Given the description of an element on the screen output the (x, y) to click on. 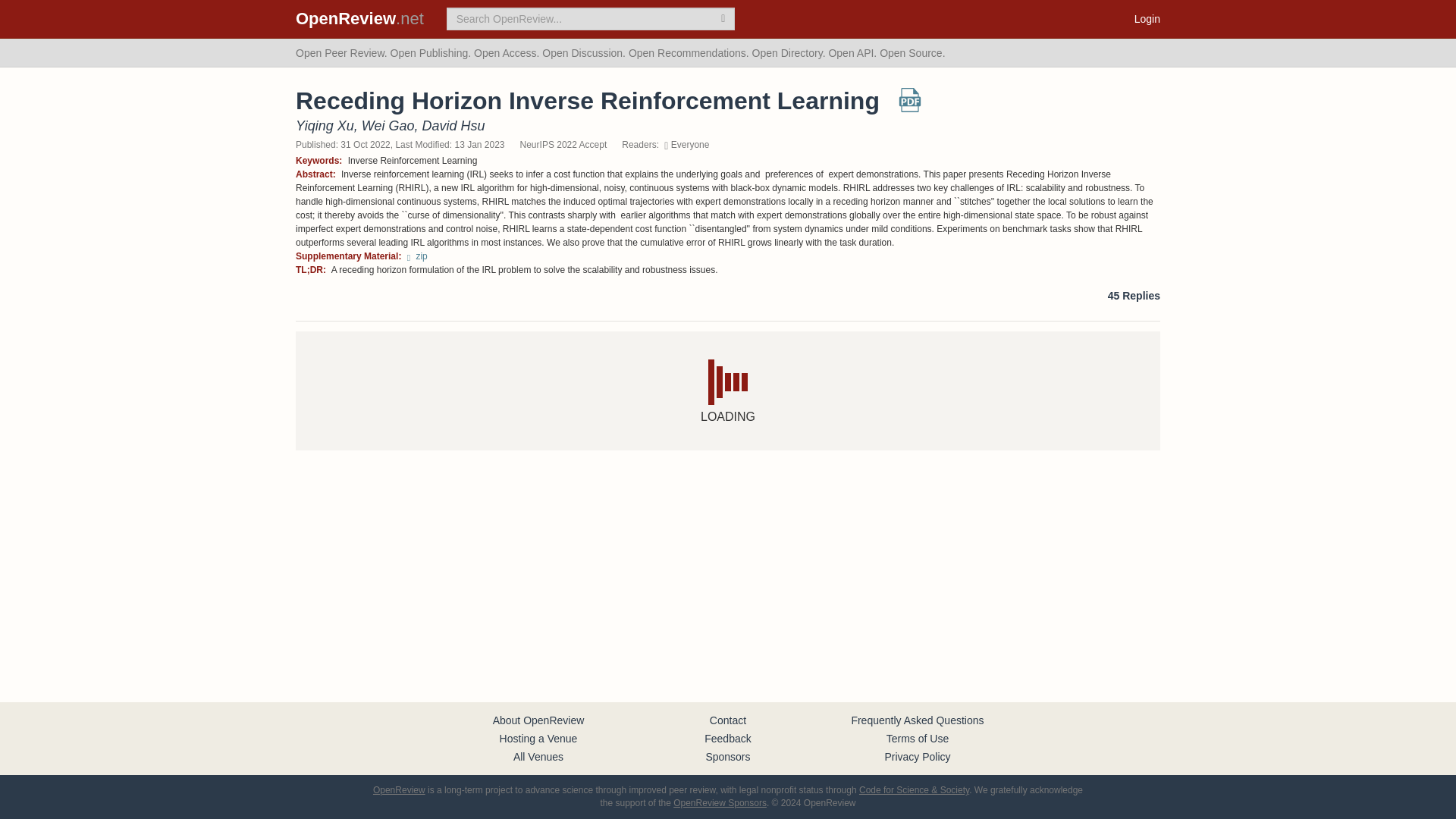
Hosting a Venue (538, 738)
Feedback (727, 738)
About OpenReview (539, 720)
 zip (417, 255)
OpenReview.net (359, 18)
OpenReview (398, 789)
Download Supplementary Material (417, 255)
All Venues (538, 756)
Wei Gao (387, 125)
Yiqing Xu (324, 125)
